Given the description of an element on the screen output the (x, y) to click on. 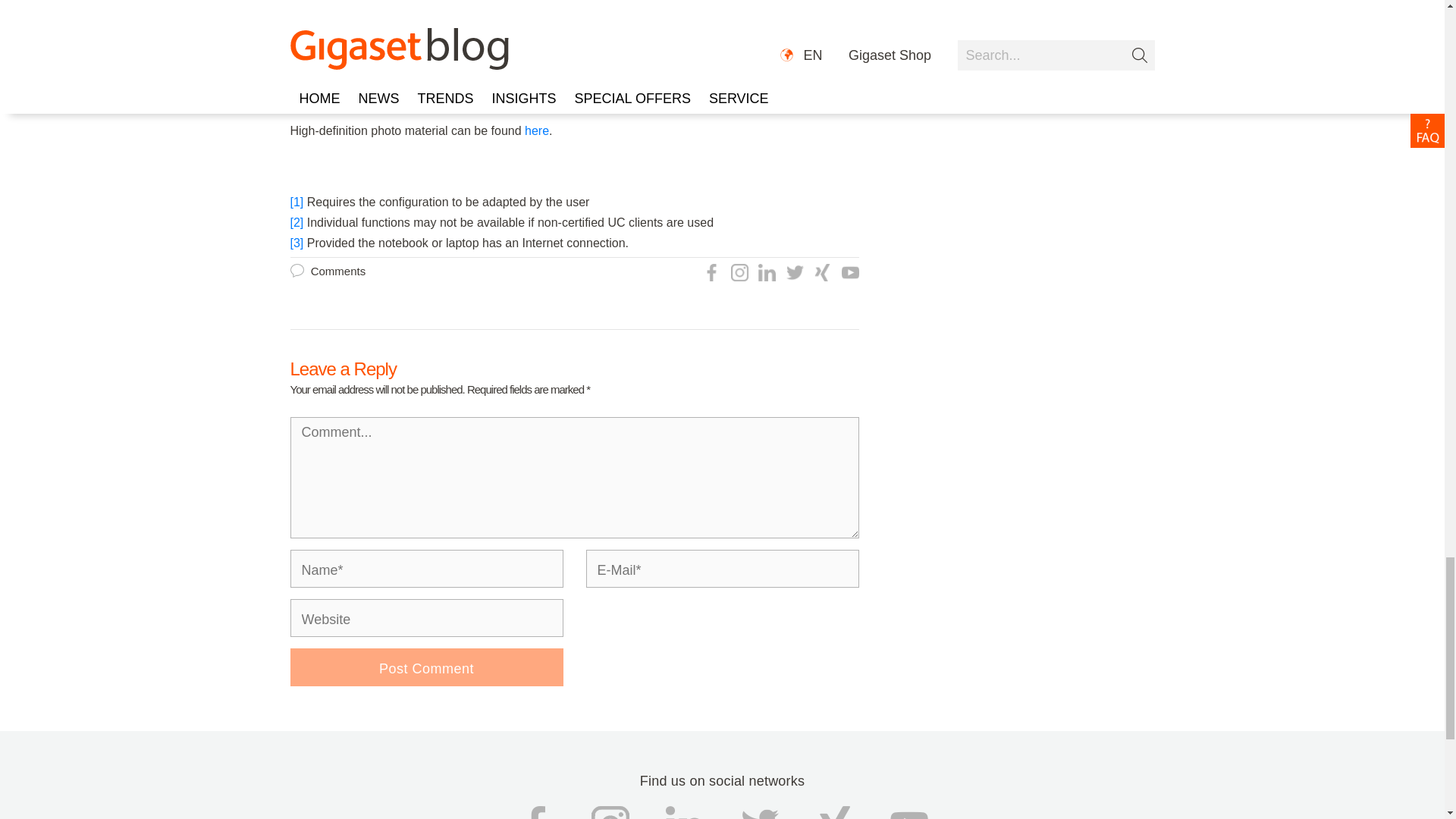
Share on Twitter (794, 272)
Share on Linked (764, 271)
Instagram (737, 271)
Post Comment (425, 667)
Share on Twitter (792, 271)
Instagram (739, 272)
Share on Facebook (709, 271)
Share on Facebook (711, 272)
Share on Xing (820, 271)
Share on Linked (767, 272)
